Given the description of an element on the screen output the (x, y) to click on. 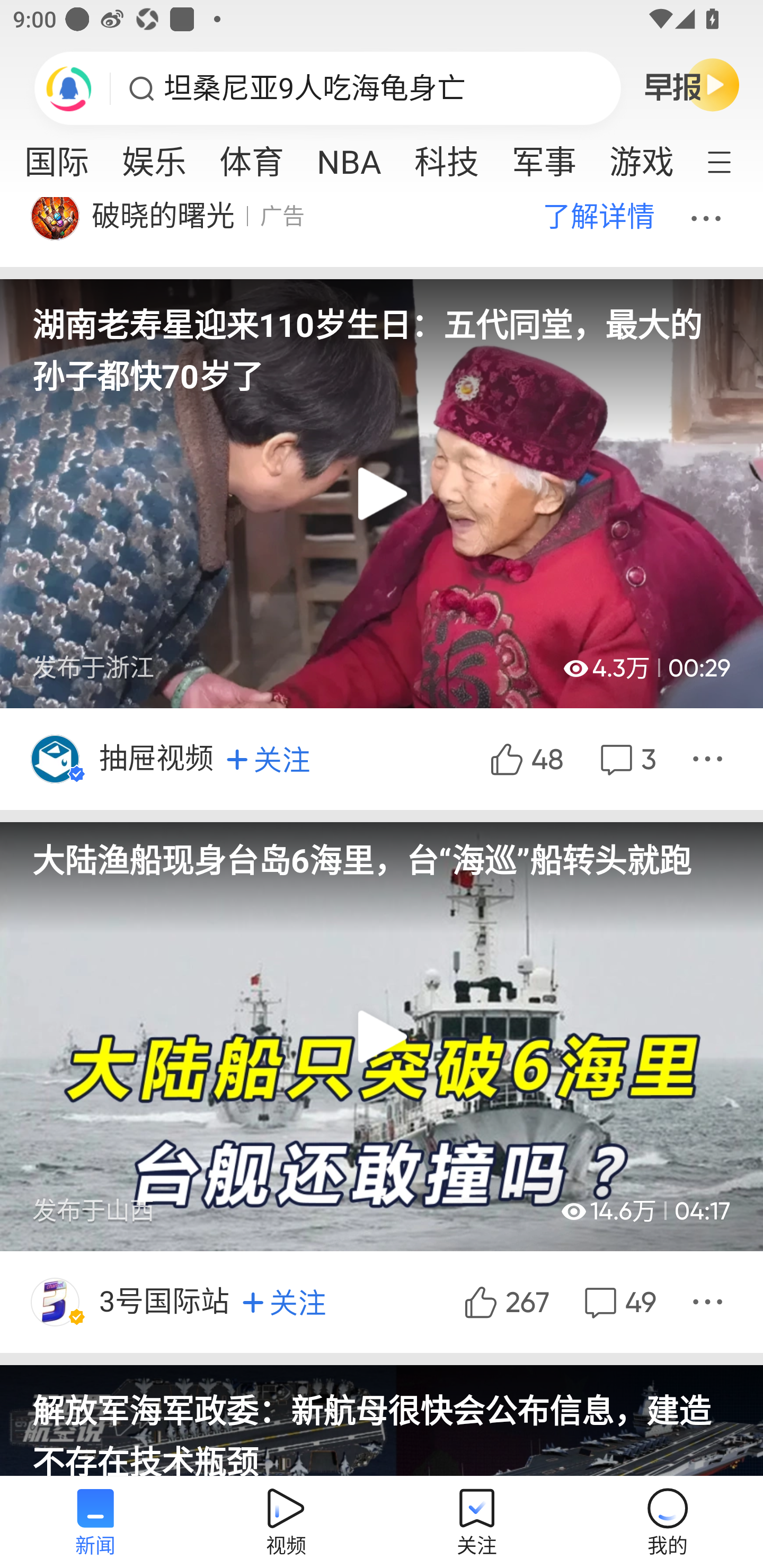
早晚报 (691, 84)
刷新 (68, 88)
坦桑尼亚9人吃海龟身亡 (314, 88)
国际 (60, 155)
娱乐 (153, 155)
体育 (251, 155)
NBA (349, 155)
科技 (446, 155)
军事 (543, 155)
游戏 (639, 155)
 定制频道 (731, 160)
破晓的曙光 广告 了解详情  不感兴趣 (381, 231)
了解详情 (598, 216)
 不感兴趣 (708, 216)
湖南老寿星迎来110岁生日：五代同堂，最大的孙子都快70岁了 (381, 338)
48赞 (525, 759)
评论  3 (625, 759)
分享  (709, 759)
抽屉视频 (157, 759)
关注 (268, 758)
大陆渔船现身台岛6海里，台“海巡”船转头就跑 (381, 850)
267赞 (504, 1302)
评论  49 (617, 1302)
分享  (709, 1302)
3号国际站 (165, 1301)
关注 (283, 1302)
